Given the description of an element on the screen output the (x, y) to click on. 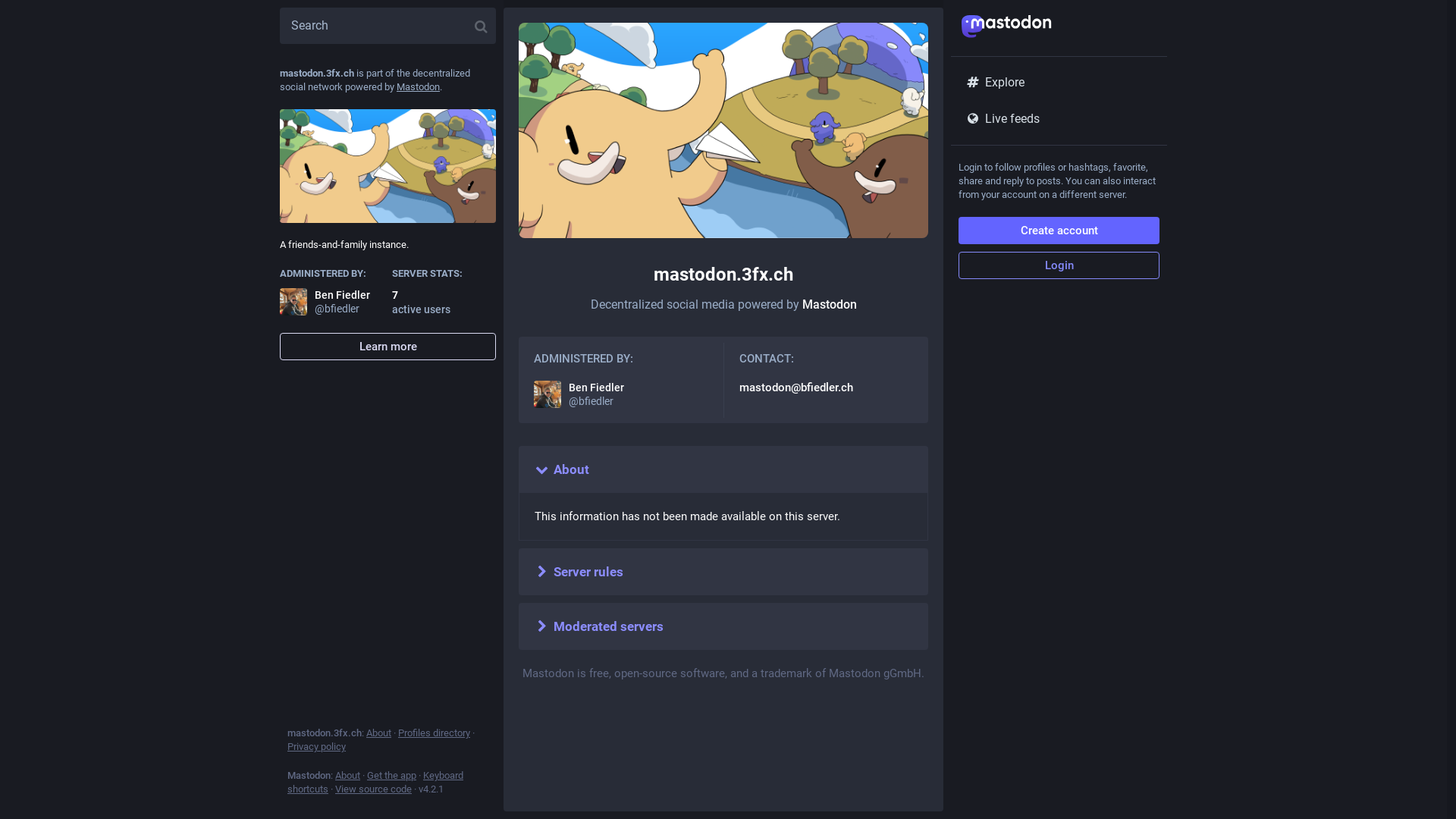
About Element type: text (347, 775)
Login Element type: text (1058, 265)
About Element type: text (378, 732)
Keyboard shortcuts Element type: text (375, 781)
Explore Element type: text (1058, 82)
Mastodon Element type: text (417, 86)
Ben Fiedler
@bfiedler Element type: text (620, 393)
Mastodon Element type: text (829, 304)
Ben Fiedler
@bfiedler Element type: text (331, 301)
Profiles directory Element type: text (434, 732)
mastodon@bfiedler.ch Element type: text (795, 387)
Create account Element type: text (1058, 230)
Live feeds Element type: text (1058, 118)
Learn more Element type: text (387, 346)
Get the app Element type: text (391, 775)
View source code Element type: text (373, 788)
Privacy policy Element type: text (316, 746)
